Given the description of an element on the screen output the (x, y) to click on. 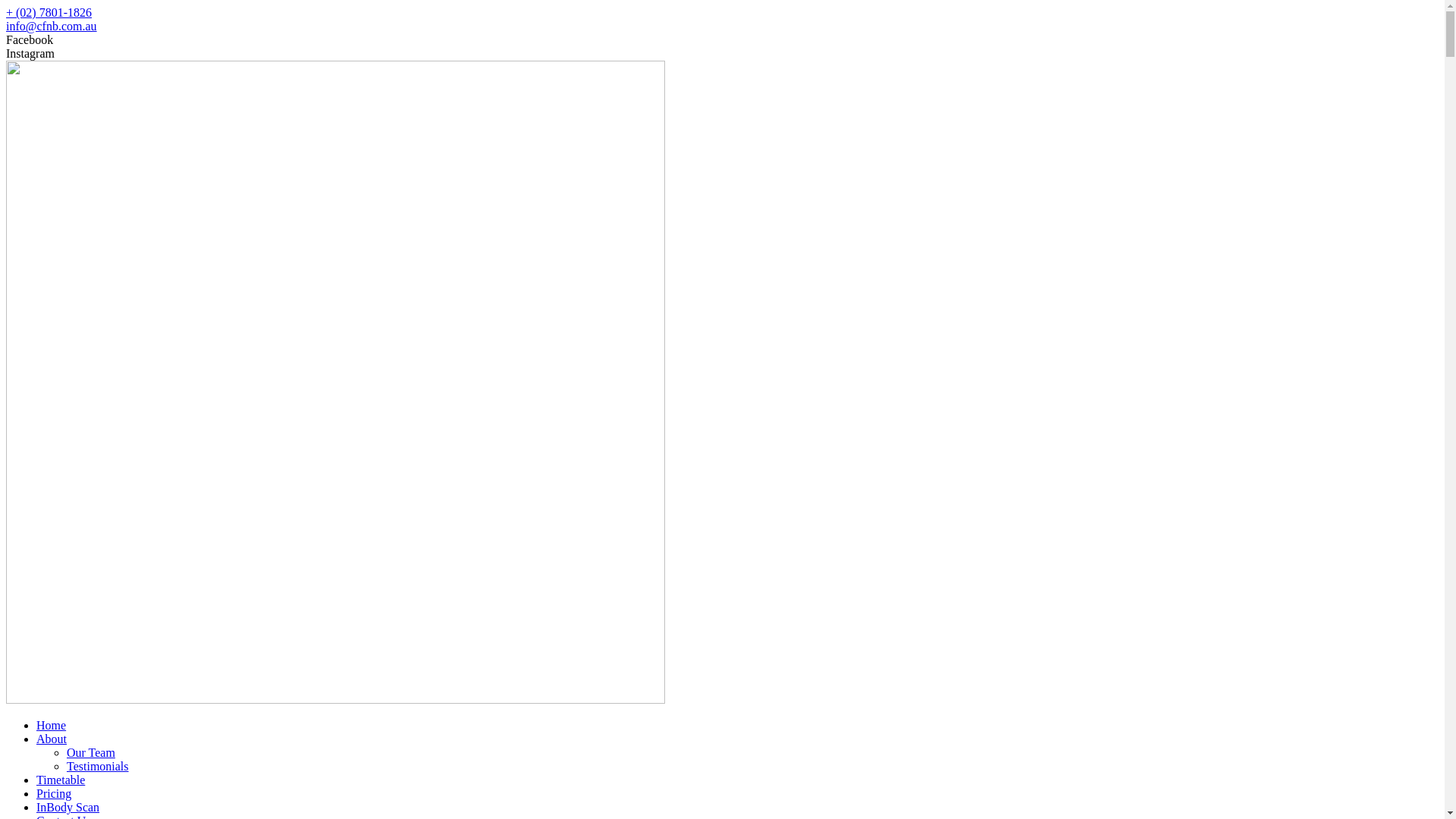
Pricing Element type: text (53, 793)
Our Team Element type: text (90, 752)
InBody Scan Element type: text (67, 806)
Home Element type: text (50, 724)
Timetable Element type: text (60, 779)
+ (02) 7801-1826 Element type: text (48, 12)
Testimonials Element type: text (97, 765)
About Element type: text (51, 738)
info@cfnb.com.au Element type: text (51, 25)
